Given the description of an element on the screen output the (x, y) to click on. 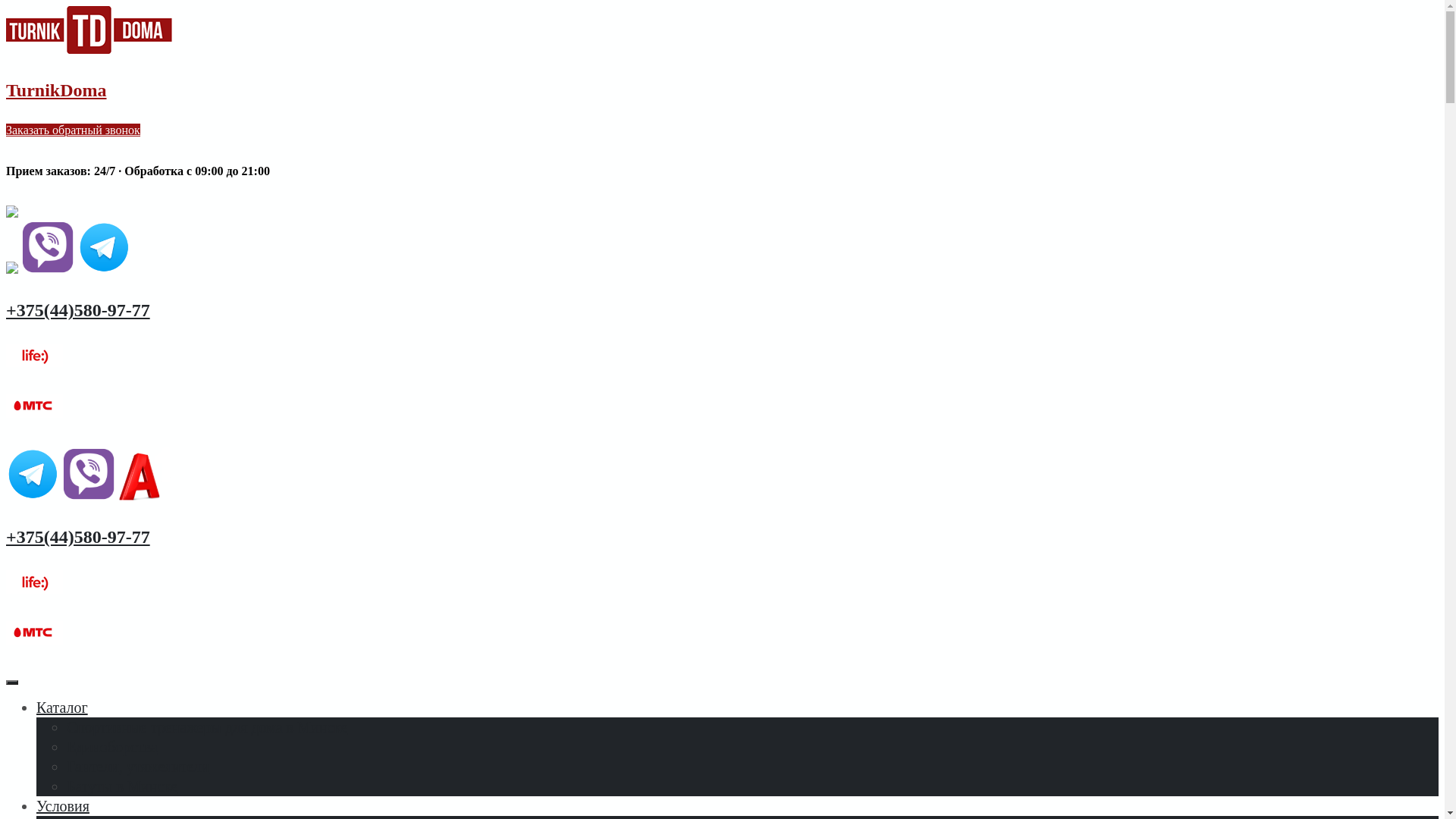
Telegram Element type: hover (103, 269)
TurnikDoma Element type: text (56, 90)
Viber Element type: hover (47, 269)
+375(44)580-97-77 Element type: text (78, 310)
Viber Element type: hover (88, 495)
Telegram Element type: hover (32, 495)
+375(44)580-97-77 Element type: text (78, 536)
